Given the description of an element on the screen output the (x, y) to click on. 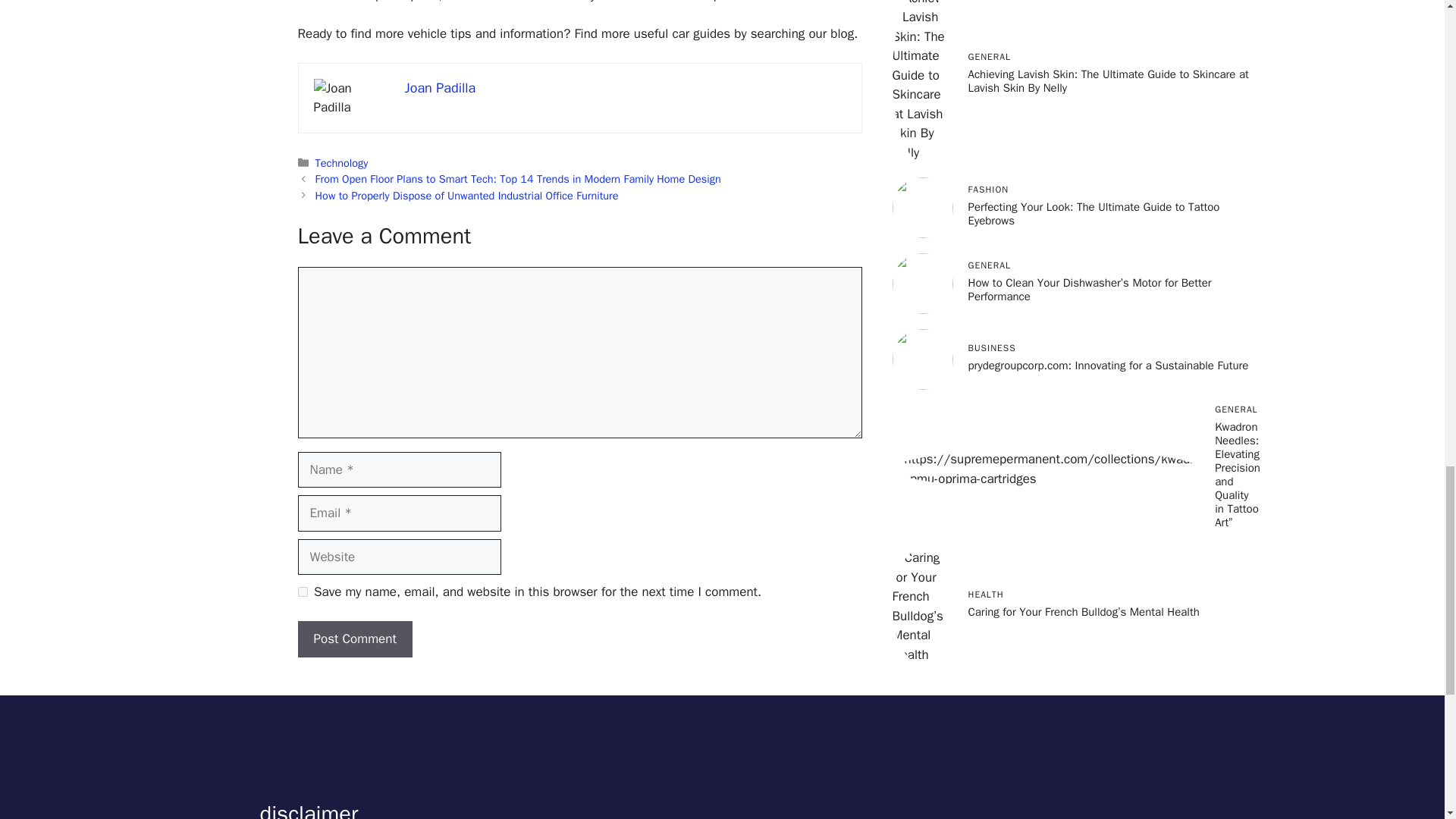
Post Comment (354, 638)
yes (302, 592)
Joan Padilla (440, 87)
Technology (341, 162)
Post Comment (354, 638)
